Given the description of an element on the screen output the (x, y) to click on. 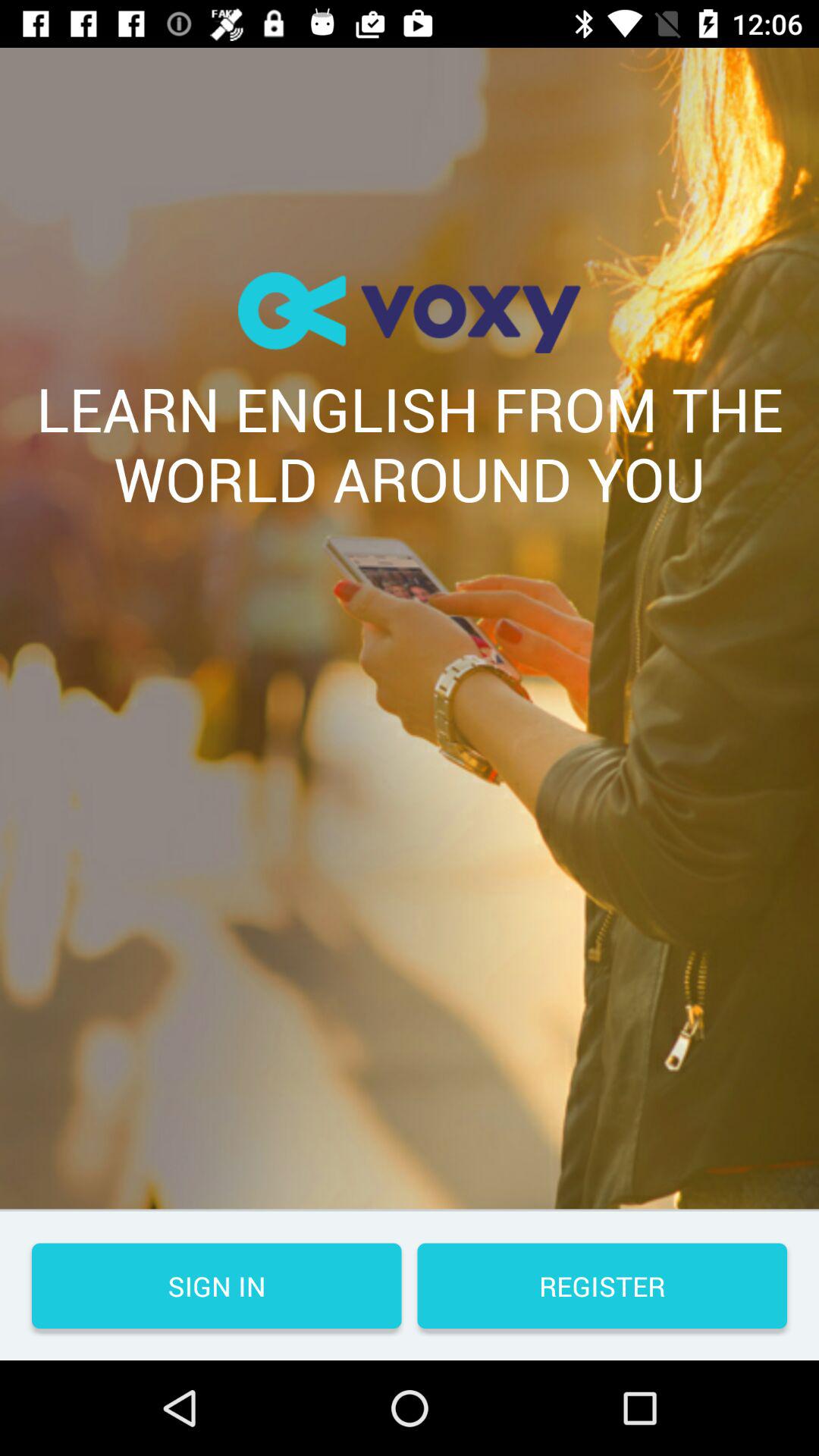
turn off the item above the learn english from icon (409, 312)
